Given the description of an element on the screen output the (x, y) to click on. 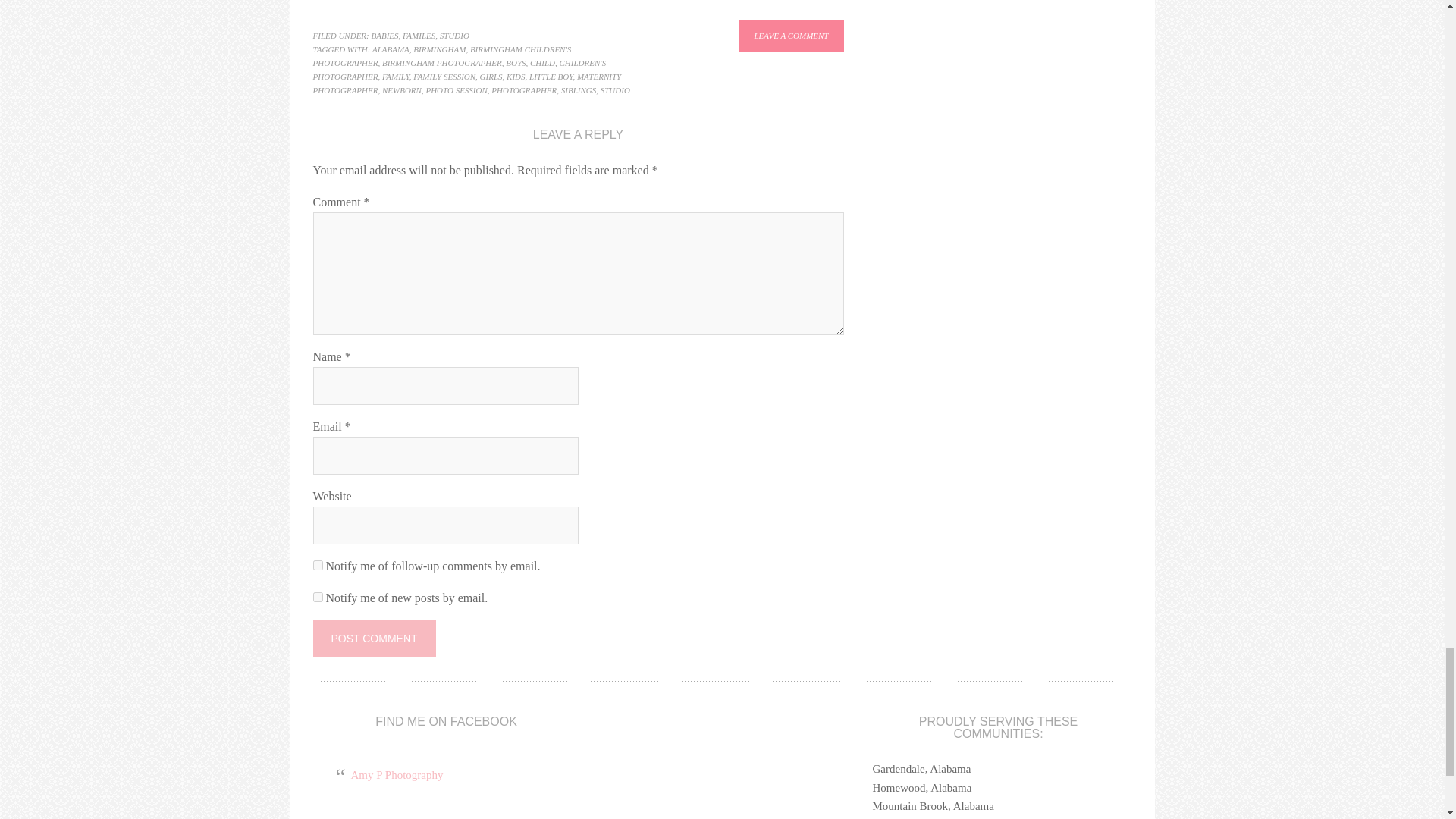
ALABAMA (390, 49)
FAMILES (419, 35)
subscribe (317, 596)
BABIES (384, 35)
LEAVE A COMMENT (790, 35)
subscribe (317, 565)
STUDIO (453, 35)
Post Comment (374, 637)
